Given the description of an element on the screen output the (x, y) to click on. 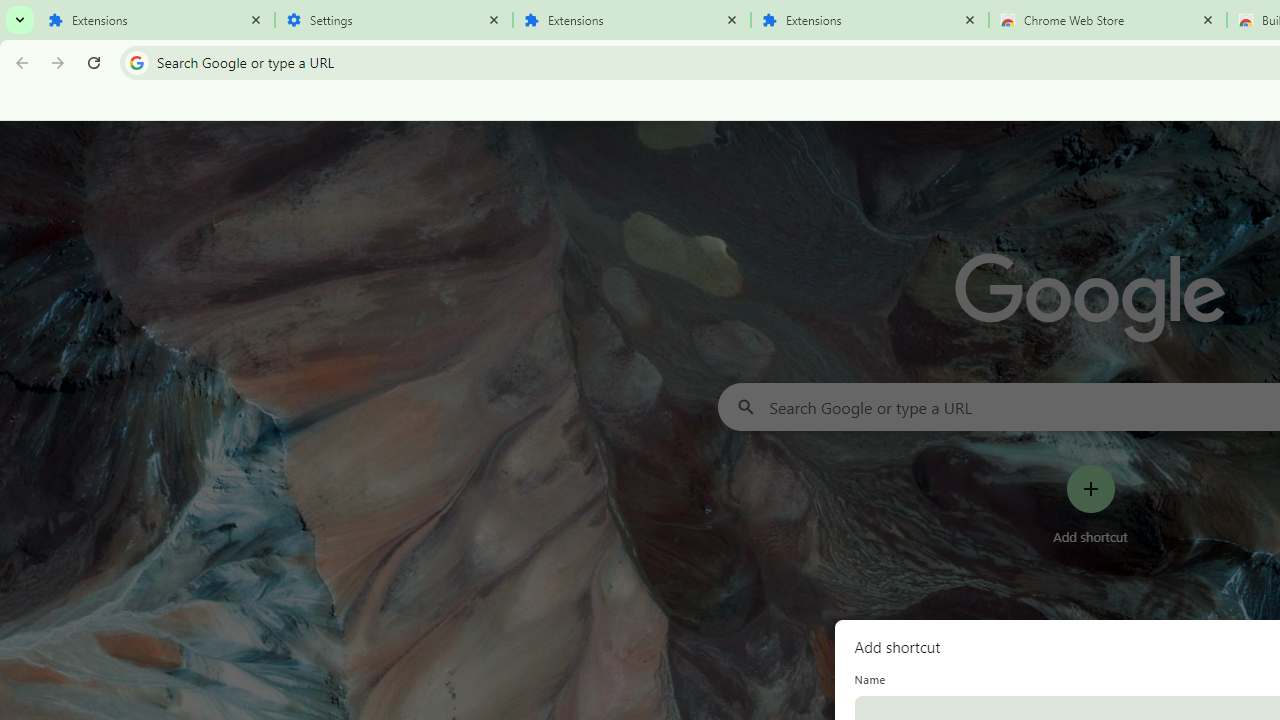
Forward (57, 62)
Extensions (156, 20)
Chrome Web Store (1108, 20)
Reload (93, 62)
Back (19, 62)
Extensions (870, 20)
Close (1208, 19)
Extensions (632, 20)
Search tabs (20, 20)
Search icon (136, 62)
Settings (394, 20)
